Given the description of an element on the screen output the (x, y) to click on. 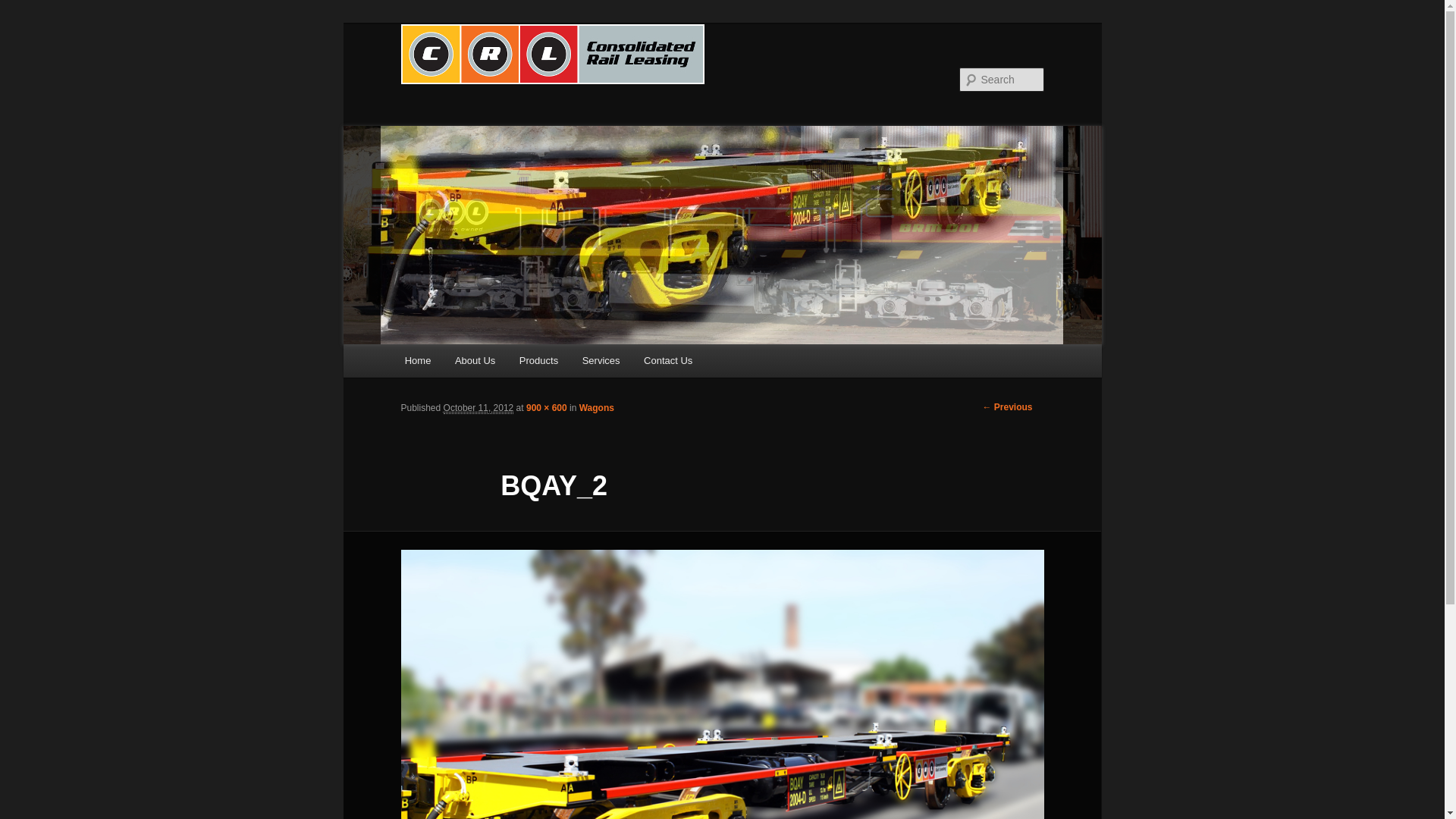
Search Element type: text (24, 8)
Home Element type: text (417, 360)
Skip to primary content Element type: text (414, 344)
About Us Element type: text (474, 360)
Products Element type: text (538, 360)
Contact Us Element type: text (667, 360)
Services Element type: text (600, 360)
Wagons Element type: text (596, 407)
